Given the description of an element on the screen output the (x, y) to click on. 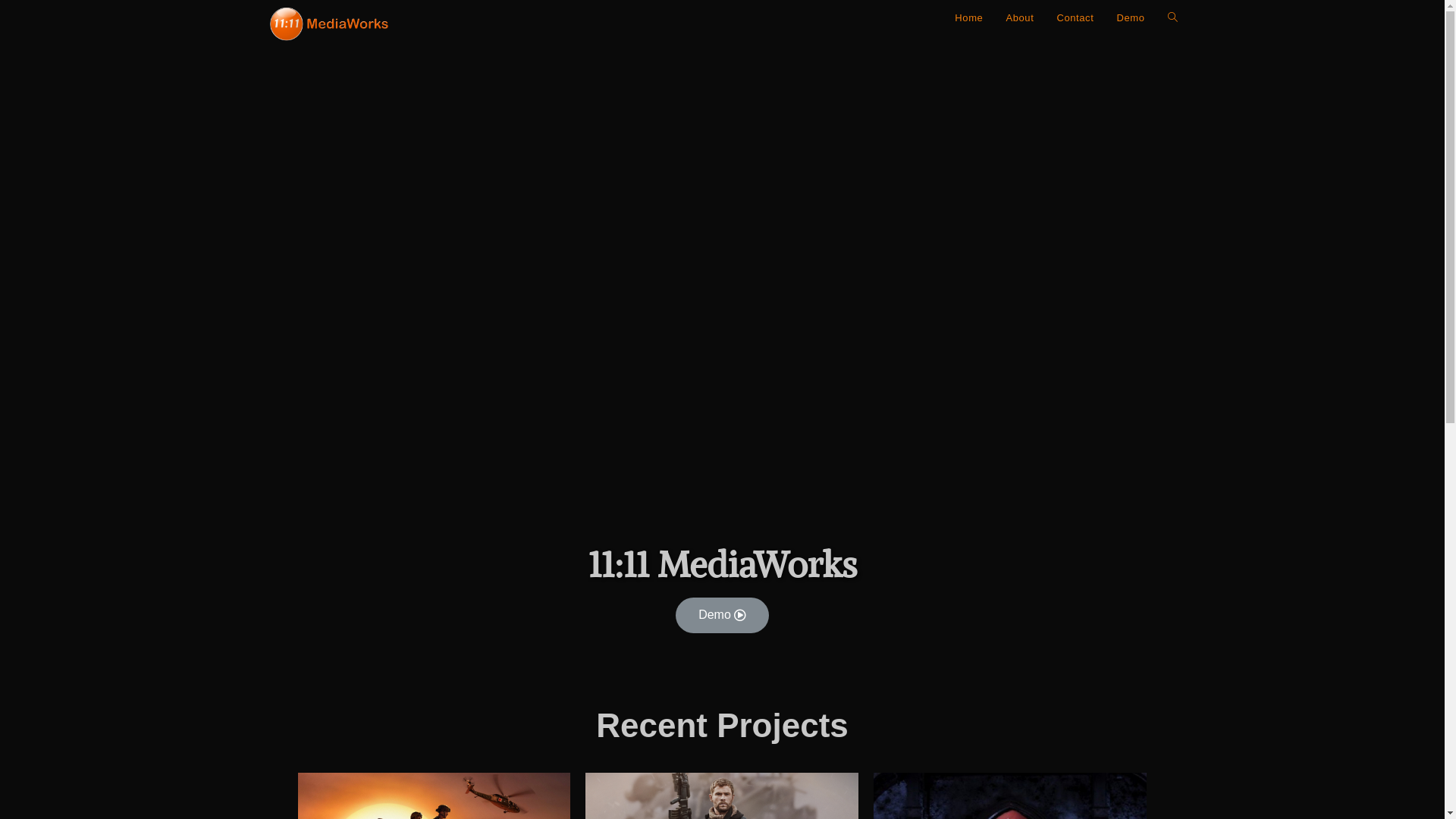
Demo Element type: text (721, 615)
Demo Element type: text (1129, 17)
About Element type: text (1019, 17)
Contact Element type: text (1074, 17)
Home Element type: text (968, 17)
